Given the description of an element on the screen output the (x, y) to click on. 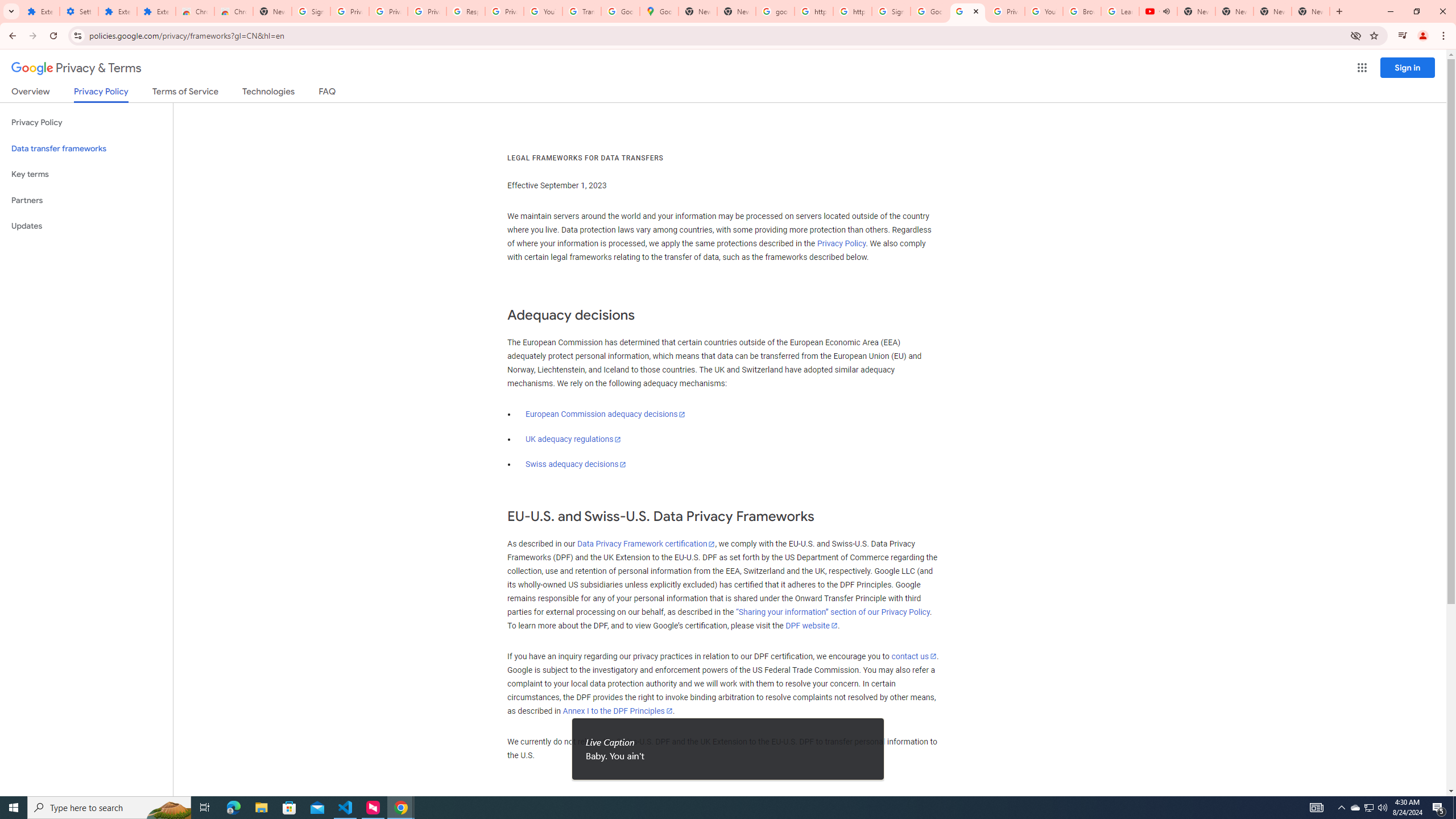
YouTube (1043, 11)
https://scholar.google.com/ (852, 11)
European Commission adequacy decisions (605, 414)
Swiss adequacy decisions (575, 464)
New Tab (272, 11)
